Given the description of an element on the screen output the (x, y) to click on. 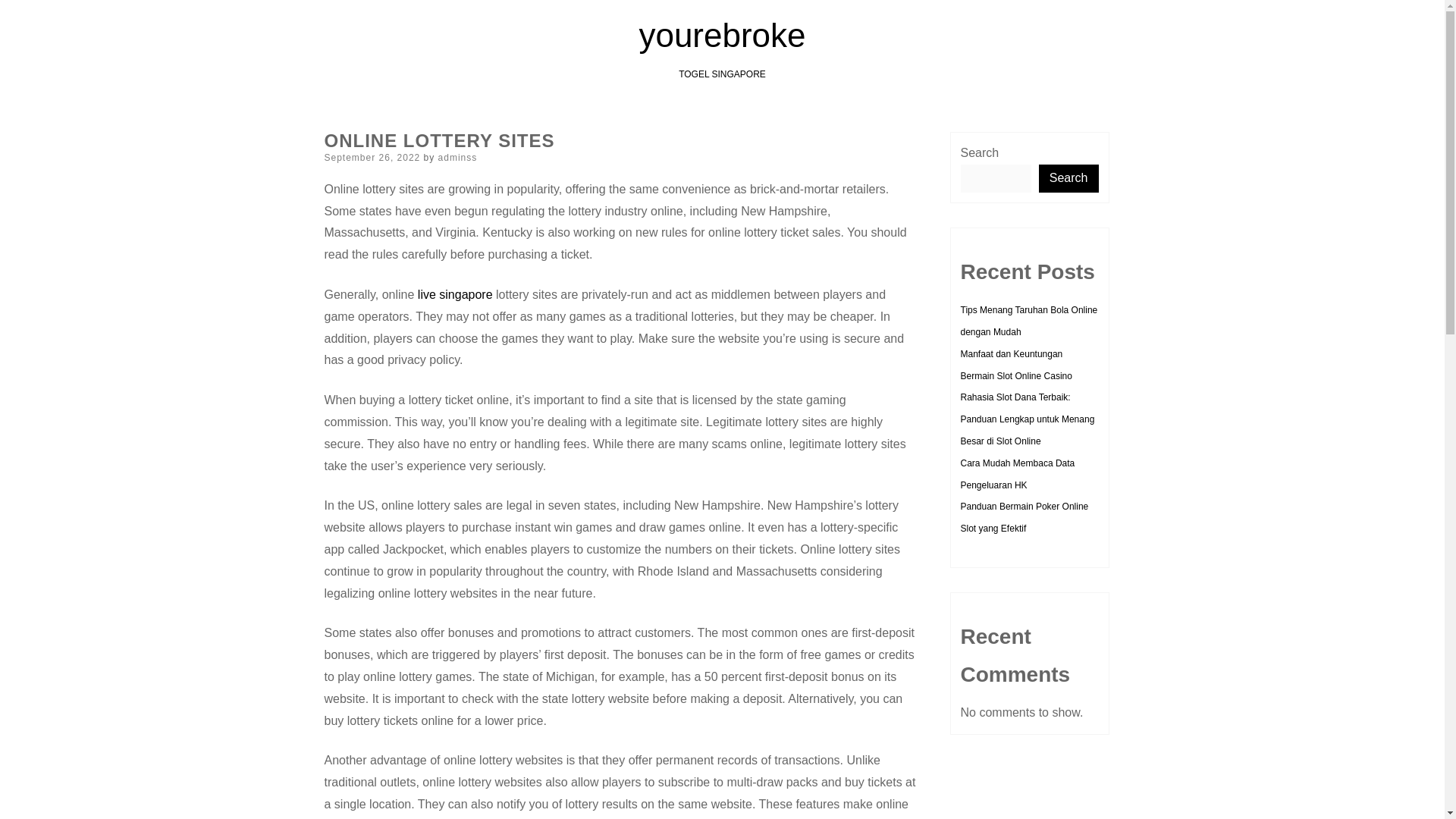
Tips Menang Taruhan Bola Online dengan Mudah (1028, 320)
Search (1069, 178)
Panduan Bermain Poker Online Slot yang Efektif (1023, 517)
live singapore (455, 294)
September 26, 2022 (372, 157)
Manfaat dan Keuntungan Bermain Slot Online Casino (1015, 364)
Cara Mudah Membaca Data Pengeluaran HK (1016, 473)
adminss (457, 157)
TOGEL SINGAPORE (721, 73)
yourebroke (722, 35)
